Given the description of an element on the screen output the (x, y) to click on. 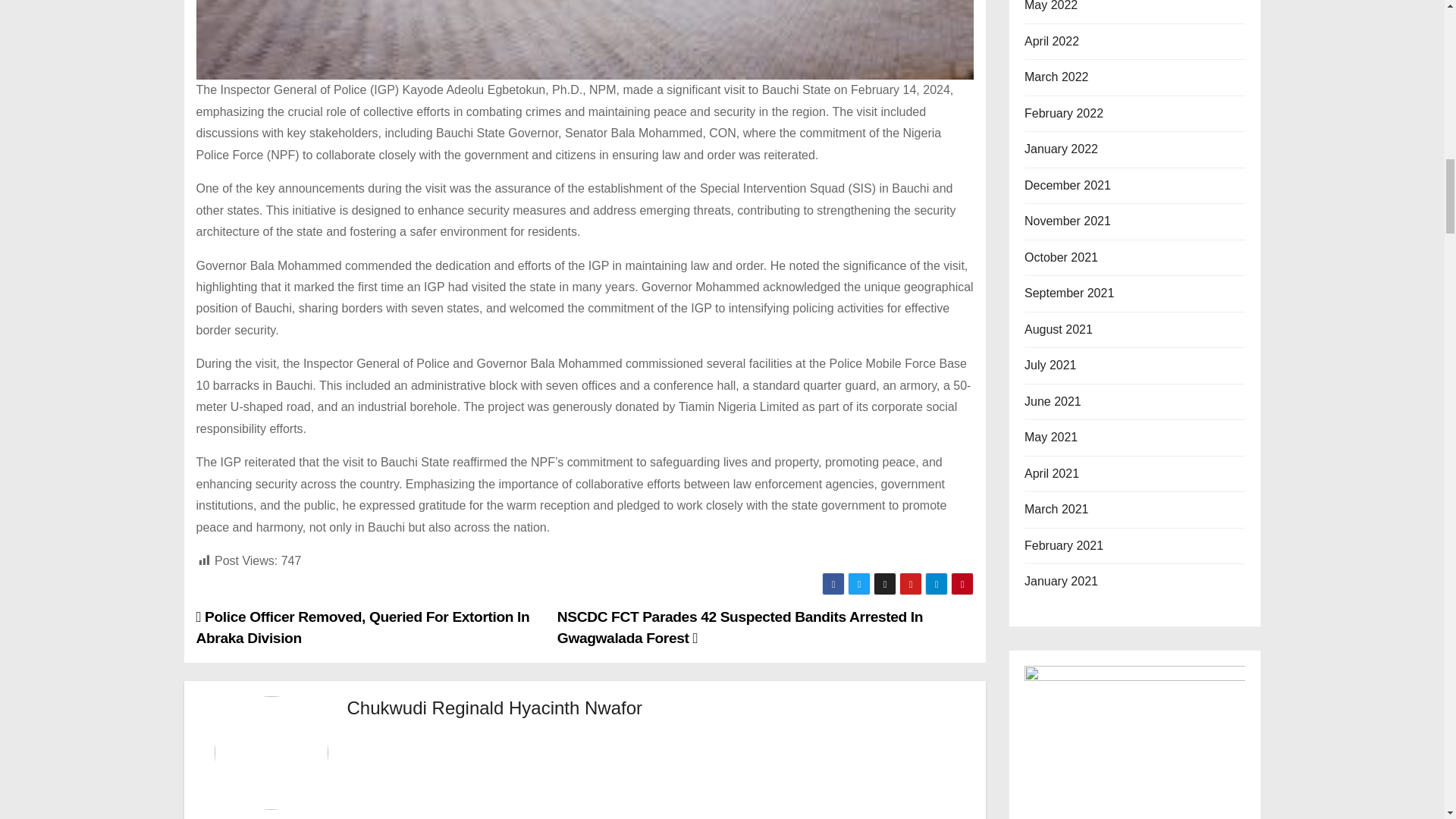
Chukwudi Reginald Hyacinth Nwafor (495, 707)
